Given the description of an element on the screen output the (x, y) to click on. 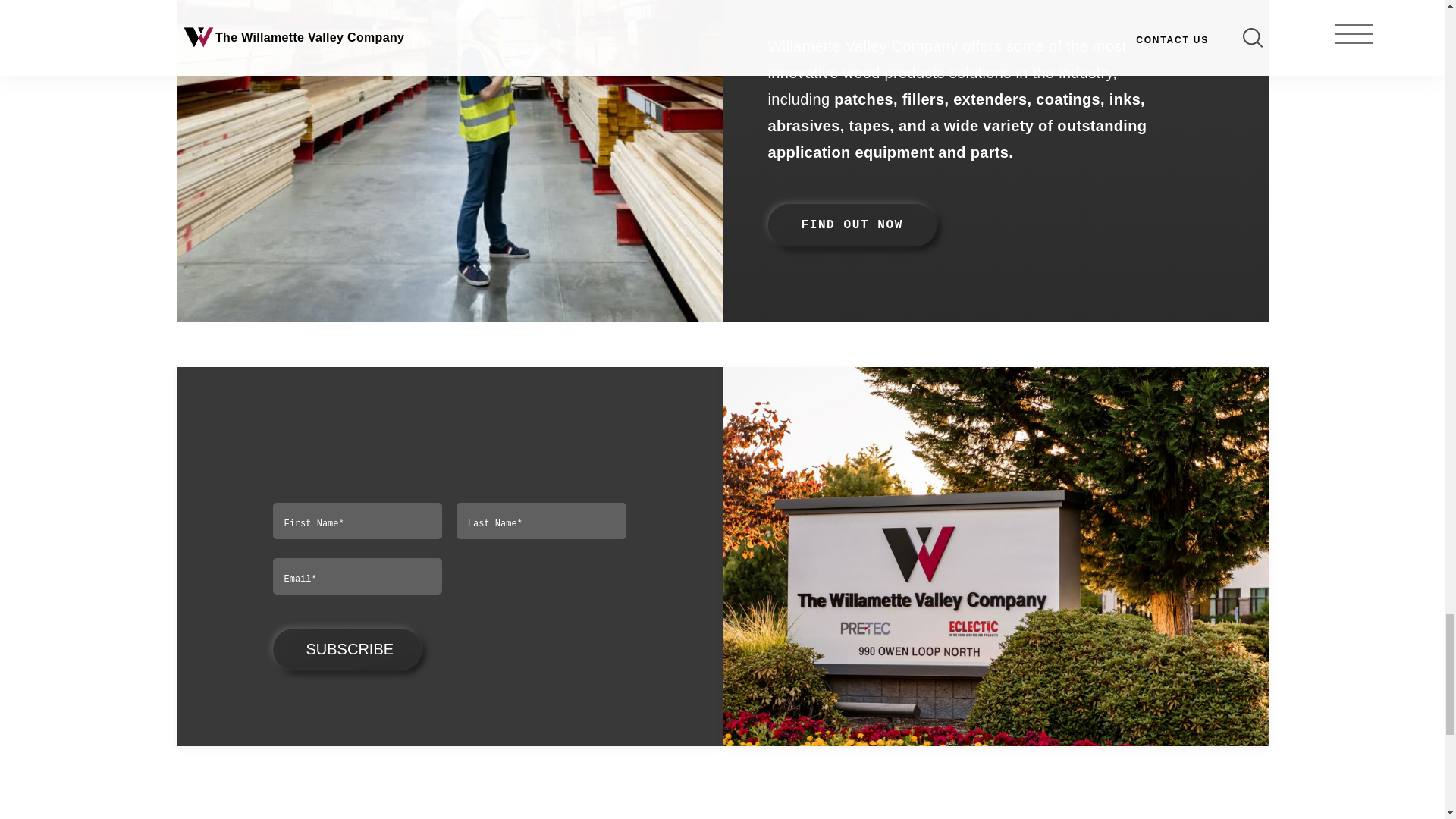
FIND OUT NOW (851, 224)
SUBSCRIBE (347, 649)
SUBSCRIBE (347, 649)
